Given the description of an element on the screen output the (x, y) to click on. 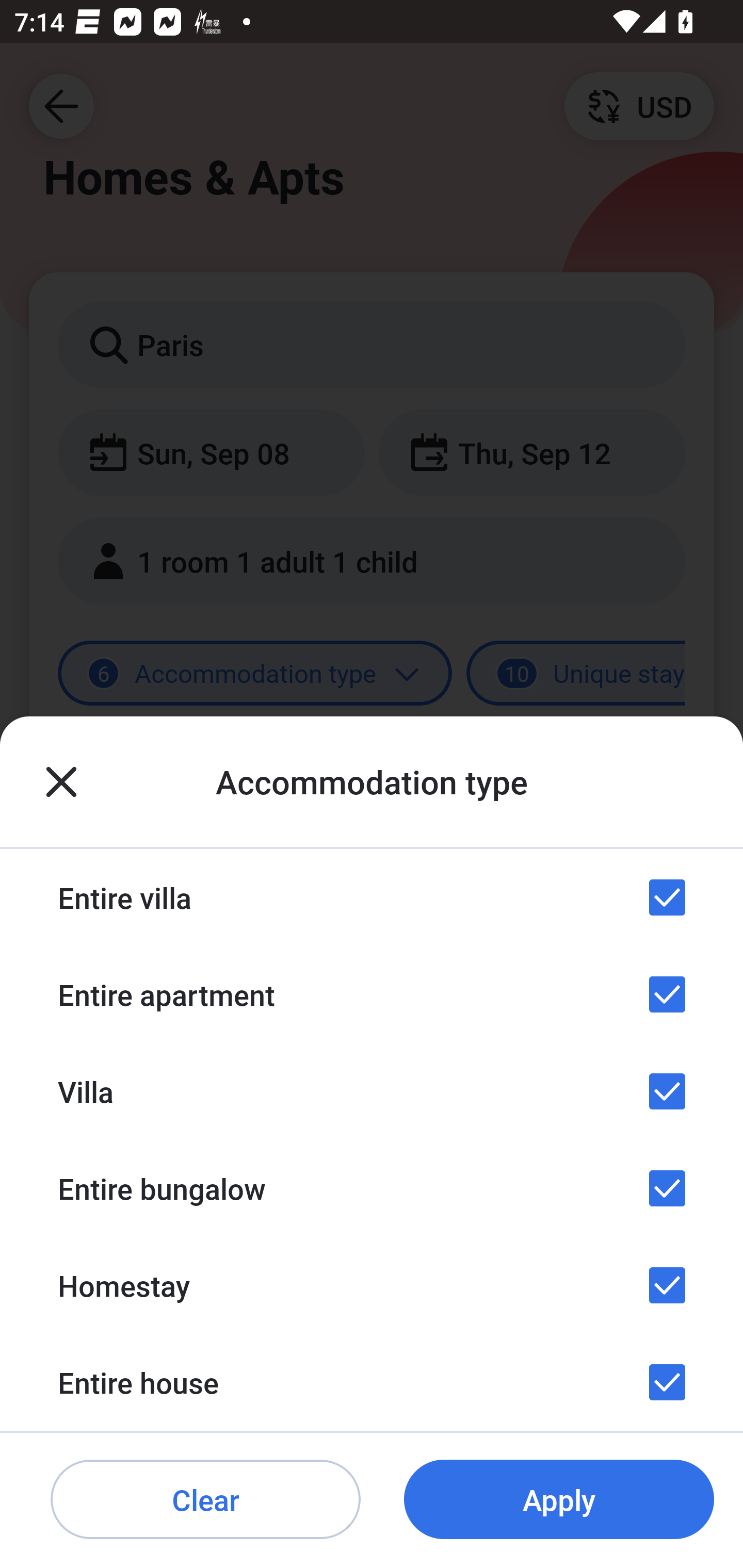
Entire villa (371, 897)
Entire apartment (371, 994)
Villa (371, 1091)
Entire bungalow (371, 1188)
Homestay (371, 1284)
Entire house (371, 1382)
Clear (205, 1499)
Apply (559, 1499)
